Given the description of an element on the screen output the (x, y) to click on. 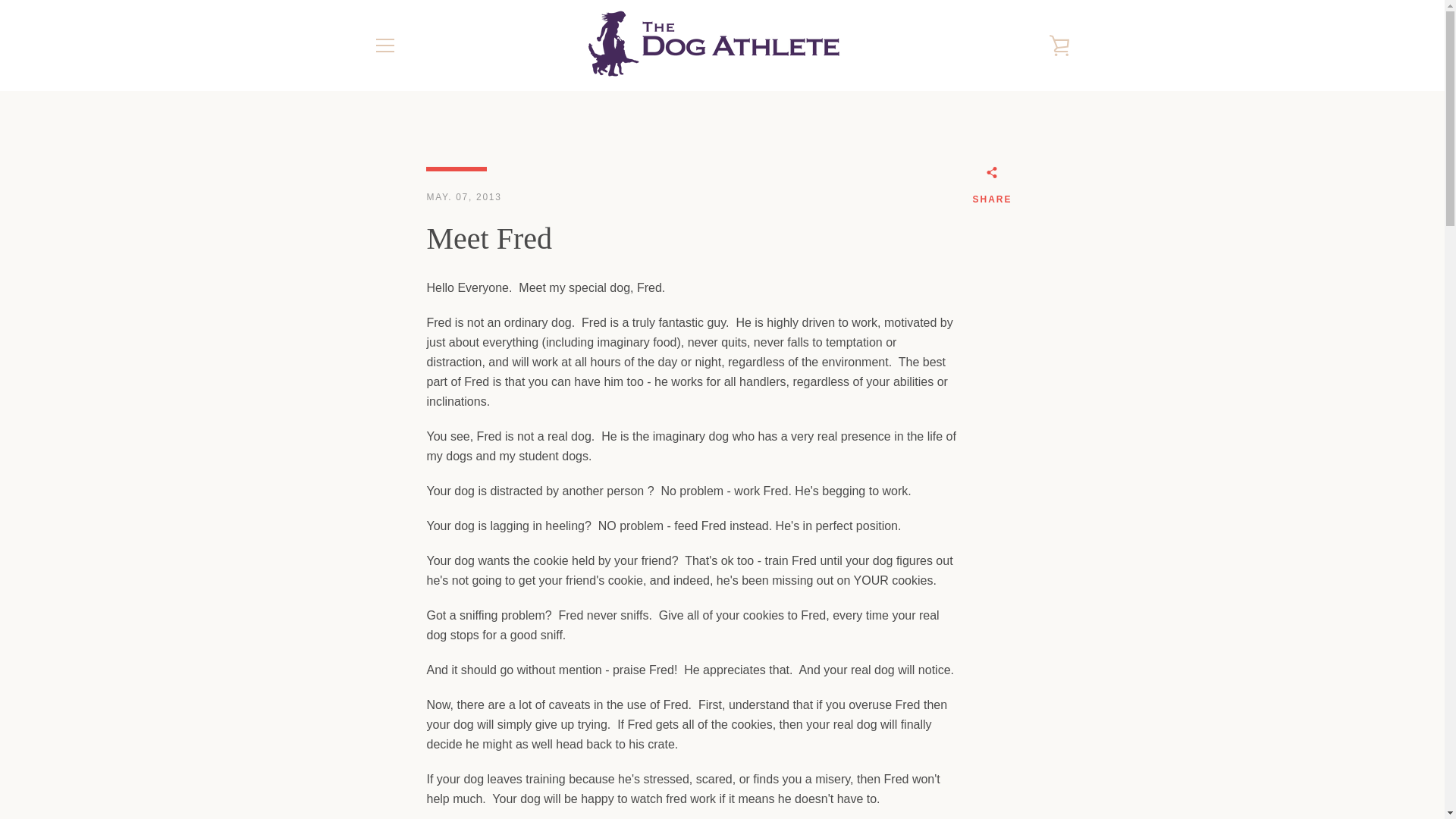
Ok (1039, 682)
The Dog Athlete (960, 758)
This website runs on Shopify (1007, 768)
Ok (1039, 682)
SHARE (991, 188)
EXPAND NAVIGATION (384, 45)
VIEW CART (1059, 45)
